Given the description of an element on the screen output the (x, y) to click on. 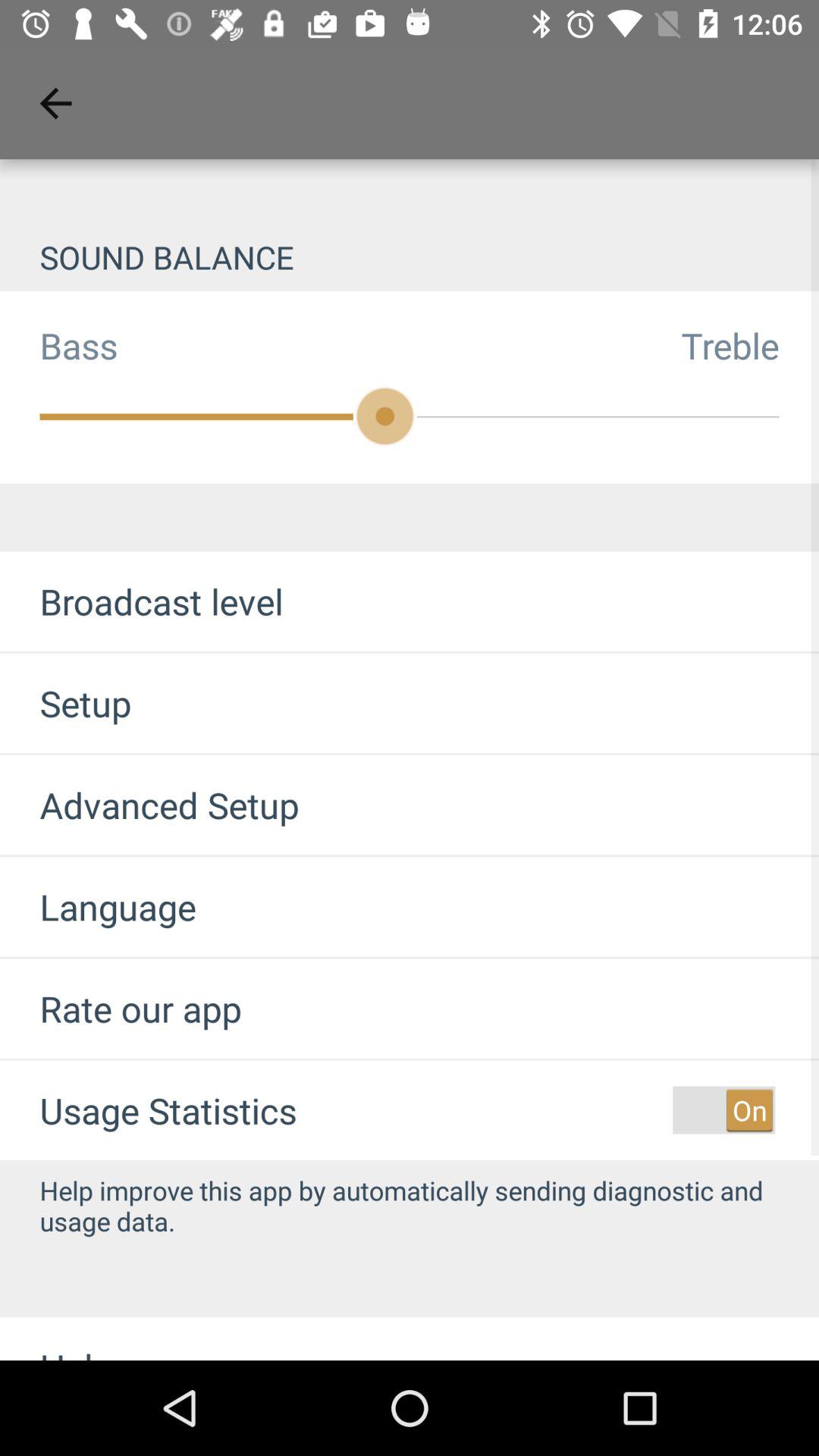
launch item below the rate our app (167, 1110)
